Given the description of an element on the screen output the (x, y) to click on. 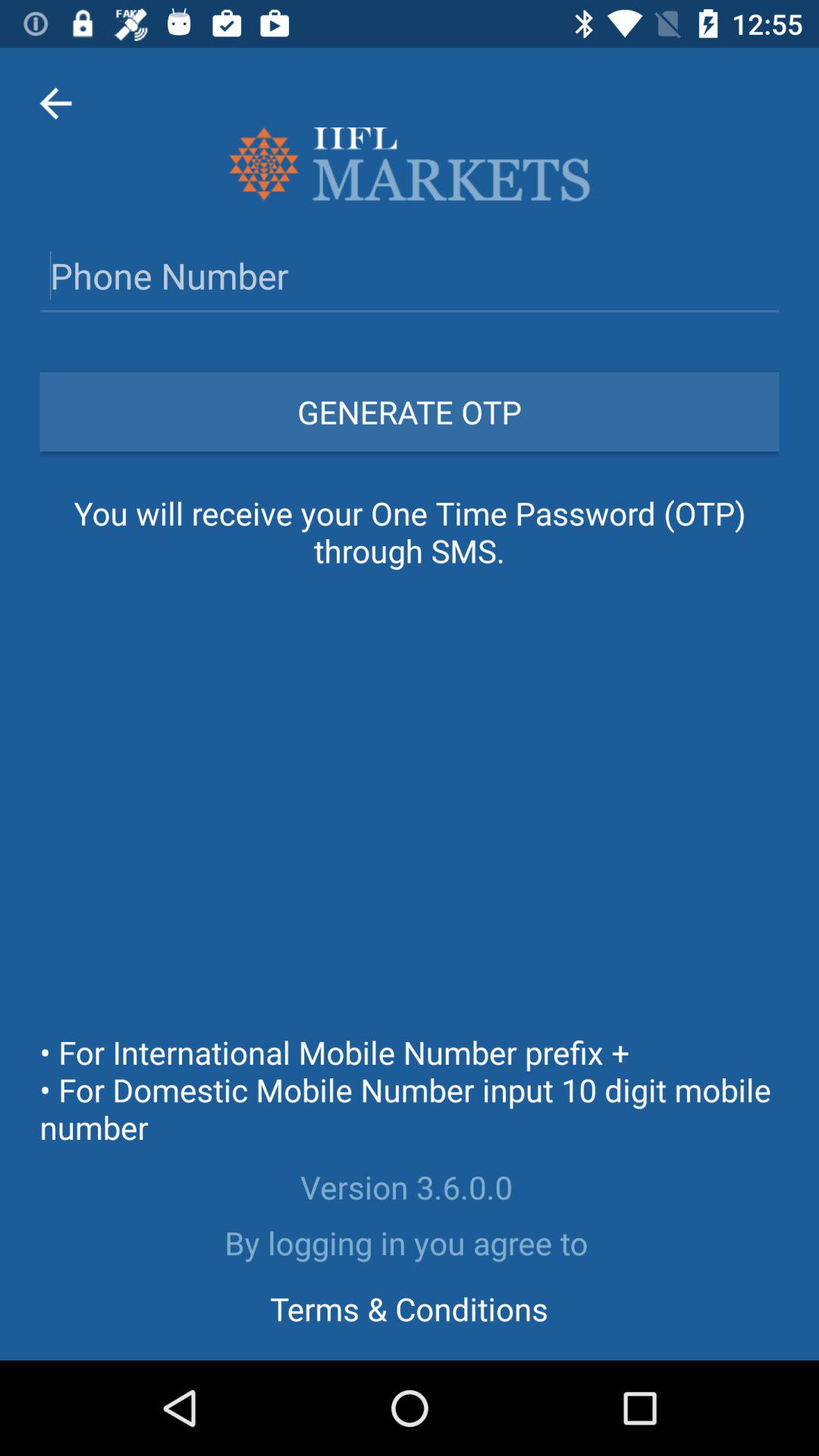
launch item at the top left corner (55, 103)
